Given the description of an element on the screen output the (x, y) to click on. 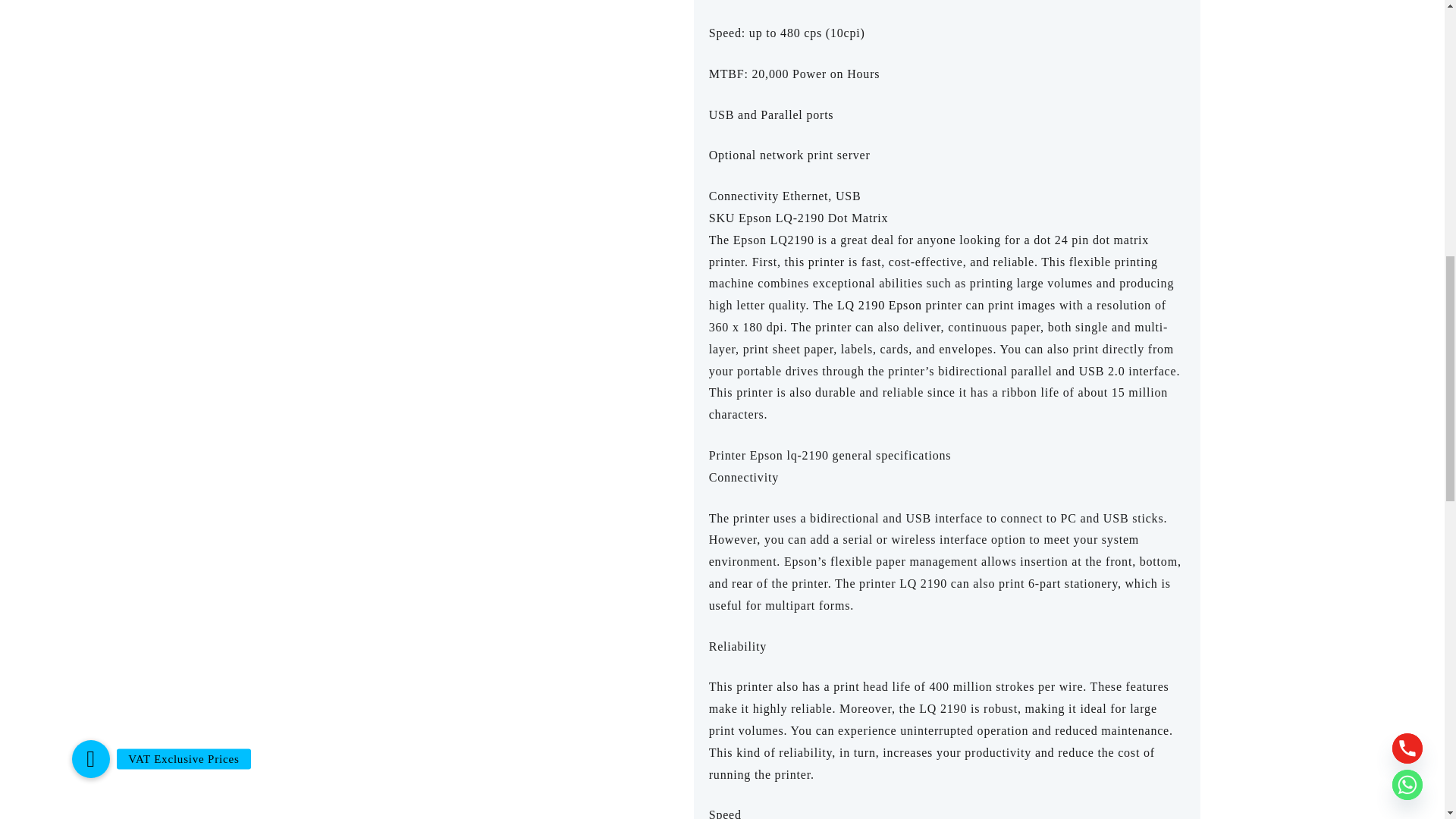
Epson LQ-2190 Dot Matrix (459, 40)
